Given the description of an element on the screen output the (x, y) to click on. 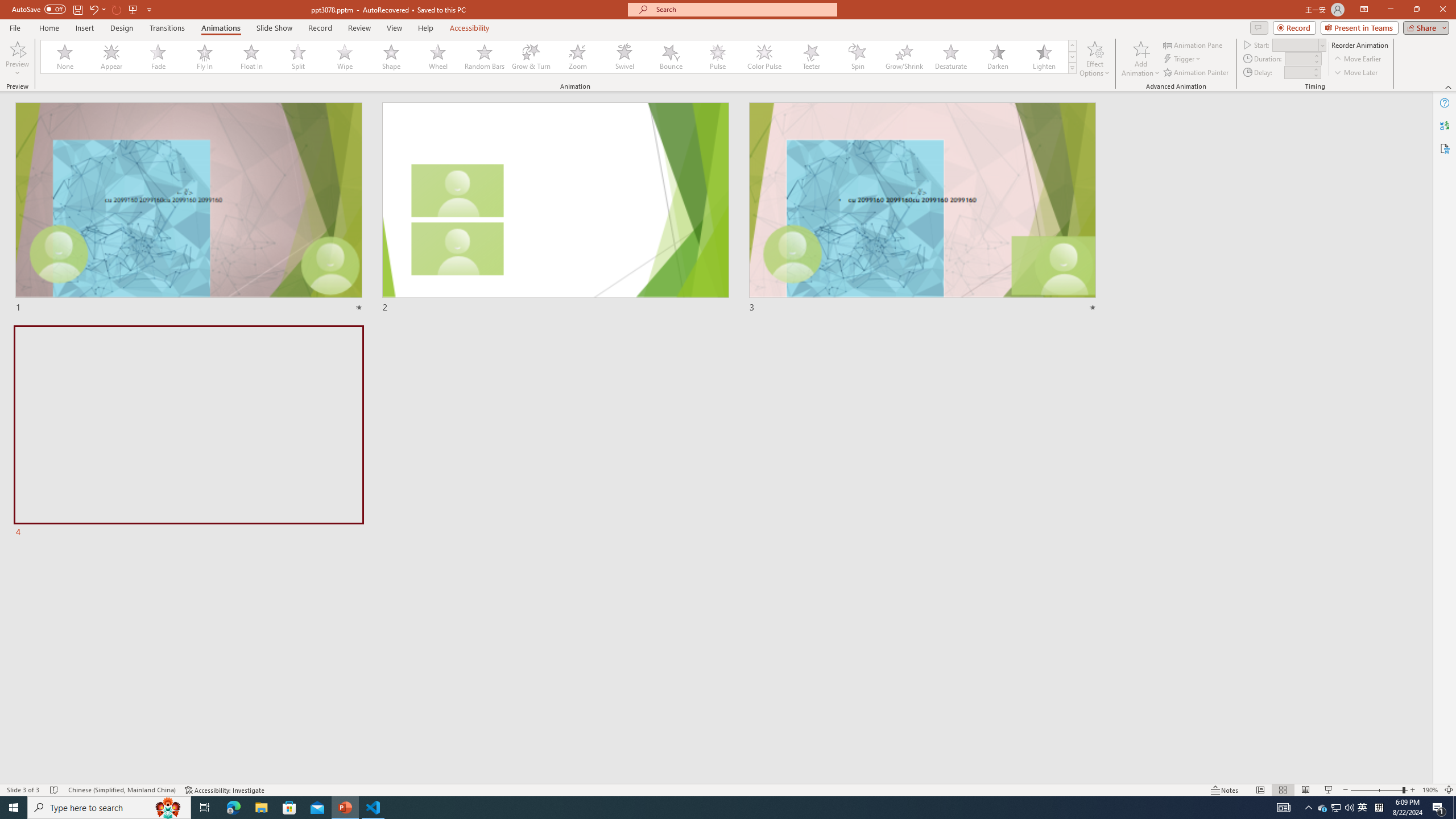
Pulse (717, 56)
Move Later (1355, 72)
Add Animation (1141, 58)
